Given the description of an element on the screen output the (x, y) to click on. 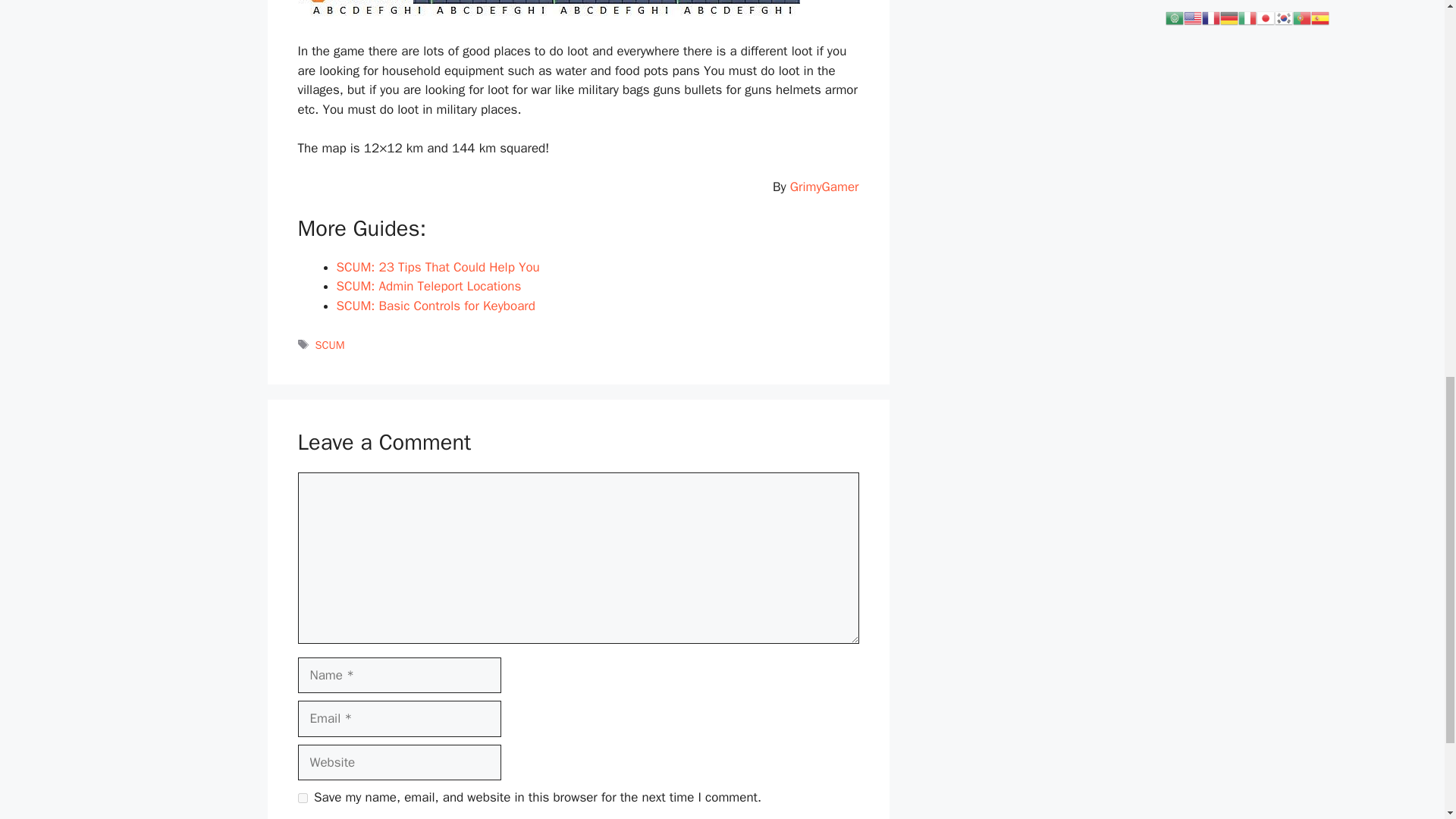
SCUM: Basic Controls for Keyboard (435, 305)
SCUM (330, 345)
GrimyGamer (824, 186)
SCUM: Admin Teleport Locations (428, 286)
SCUM: Basic Controls for Keyboard (435, 305)
SCUM: 23 Tips That Could Help You (438, 267)
yes (302, 798)
SCUM: Admin Teleport Locations (428, 286)
Scroll back to top (1406, 720)
SCUM: 23 Tips That Could Help You (438, 267)
